Given the description of an element on the screen output the (x, y) to click on. 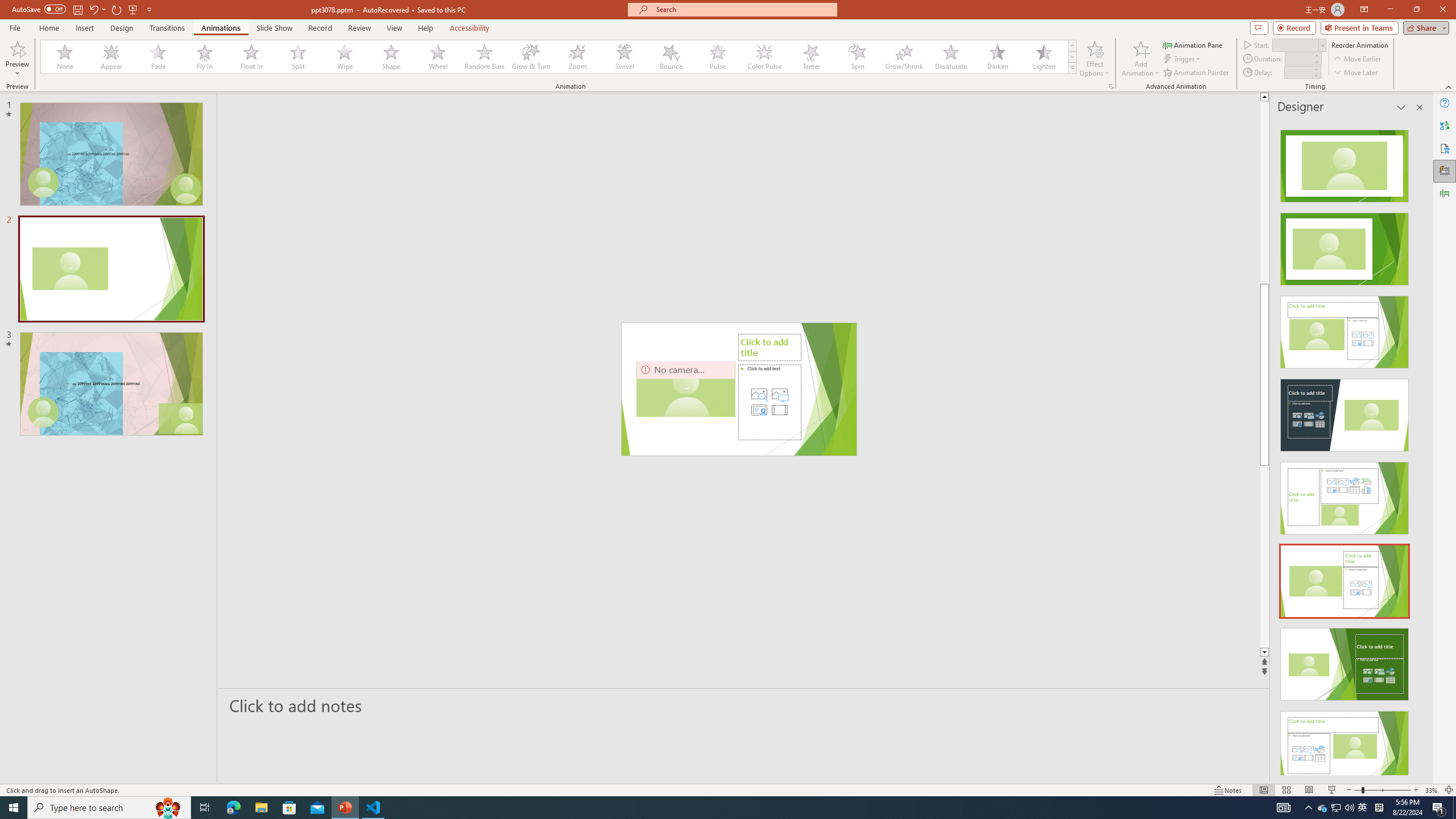
Microsoft search (742, 9)
Design Idea (1344, 743)
Fly In (205, 56)
Line down (1302, 652)
Comments (1259, 27)
Zoom (1382, 790)
Animation Styles (1071, 67)
Random Bars (484, 56)
Preview (17, 58)
Title TextBox (663, 389)
Grow & Turn (531, 56)
Record (320, 28)
More Options... (1110, 85)
Collapse the Ribbon (1448, 86)
